Given the description of an element on the screen output the (x, y) to click on. 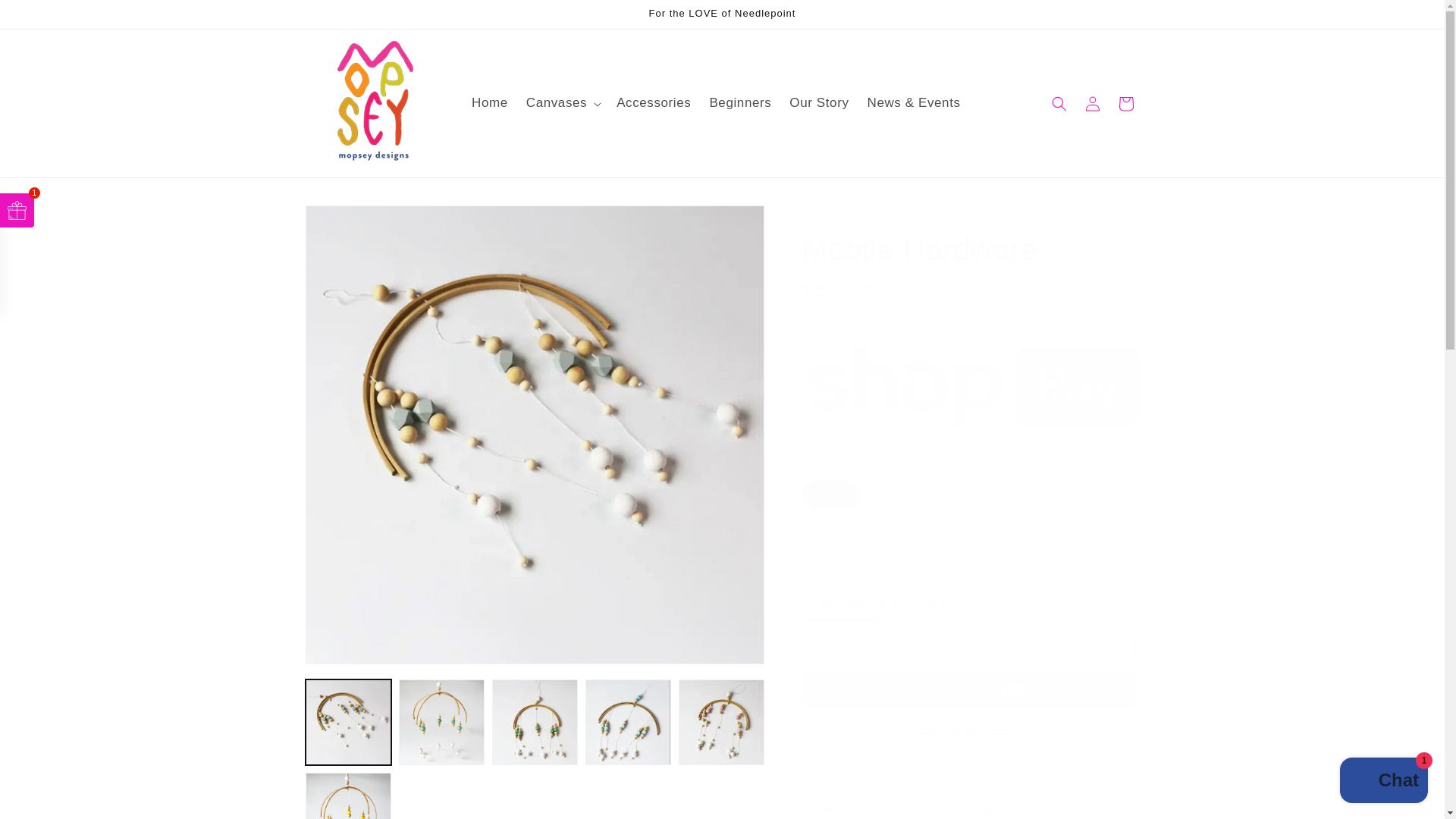
Accessories (653, 102)
Home (489, 102)
1 (856, 557)
Our Story (818, 102)
Skip to content (45, 17)
Shopify online store chat (1383, 781)
Beginners (740, 102)
